Given the description of an element on the screen output the (x, y) to click on. 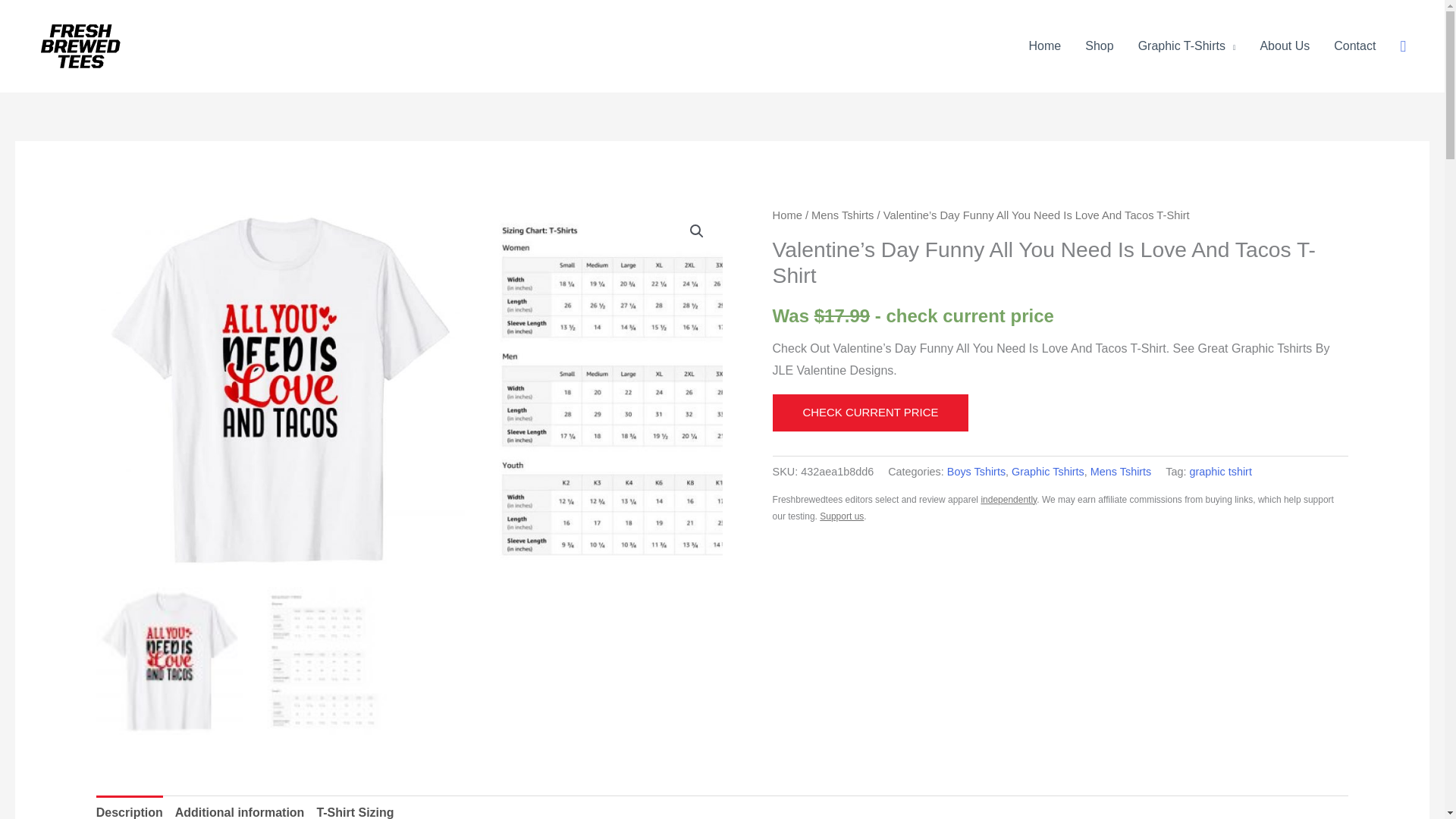
Mens Tshirts (841, 215)
Additional information (239, 806)
About Us (1284, 46)
Graphic T-Shirts (1186, 46)
Boys Tshirts (976, 471)
independently (1007, 499)
Mens Tshirts (1120, 471)
Graphic Tshirts (1047, 471)
Shop (1099, 46)
Support us (841, 516)
graphic tshirt (1220, 471)
